Given the description of an element on the screen output the (x, y) to click on. 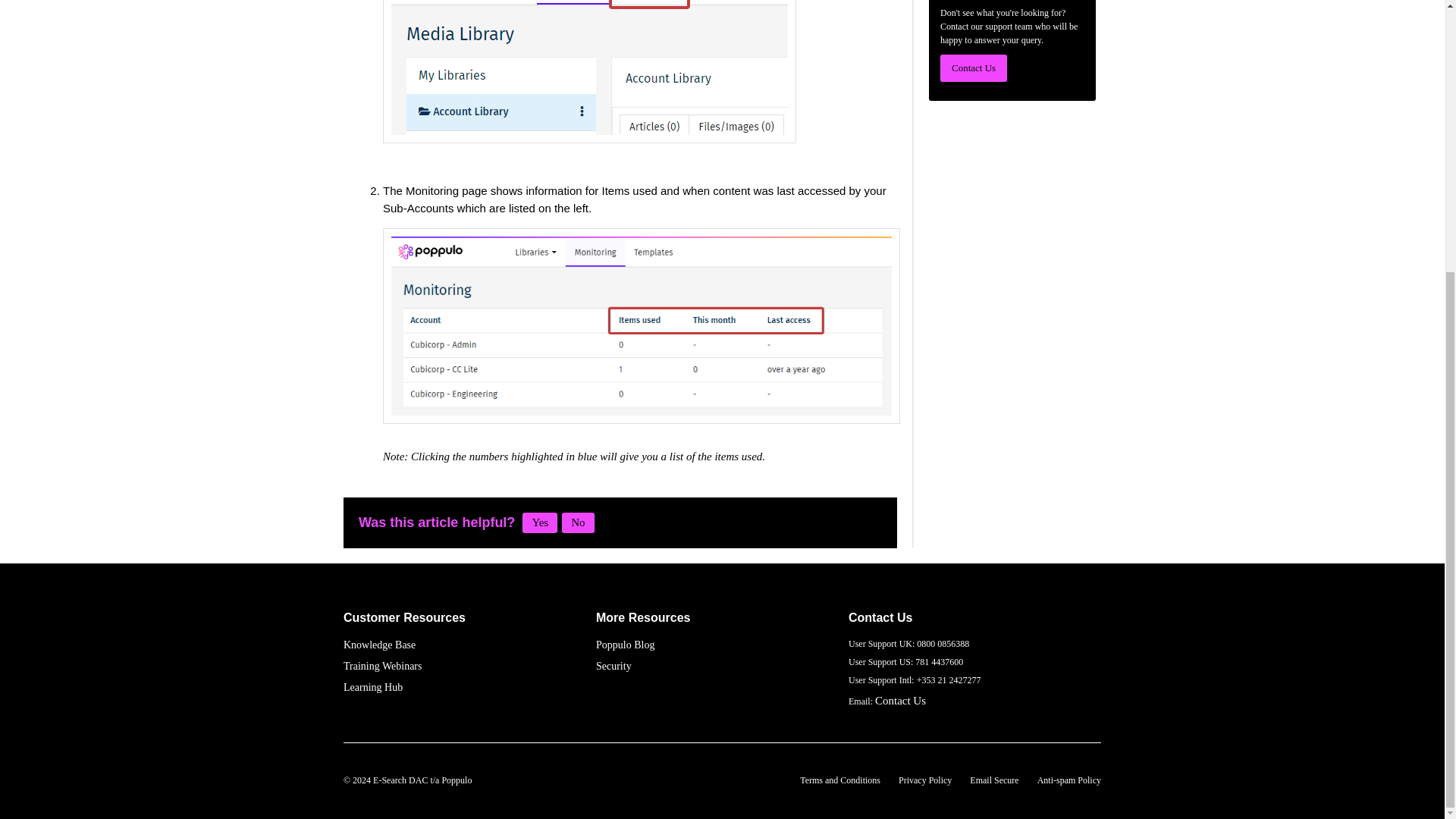
Anti-spam Policy (1068, 779)
Contact Us (973, 67)
Poppulo Blog (624, 644)
Terms and Conditions (839, 779)
No (578, 522)
Knowledge Base (378, 644)
No (578, 522)
Email Secure (993, 779)
Training Webinars (382, 665)
Yes (539, 522)
